Given the description of an element on the screen output the (x, y) to click on. 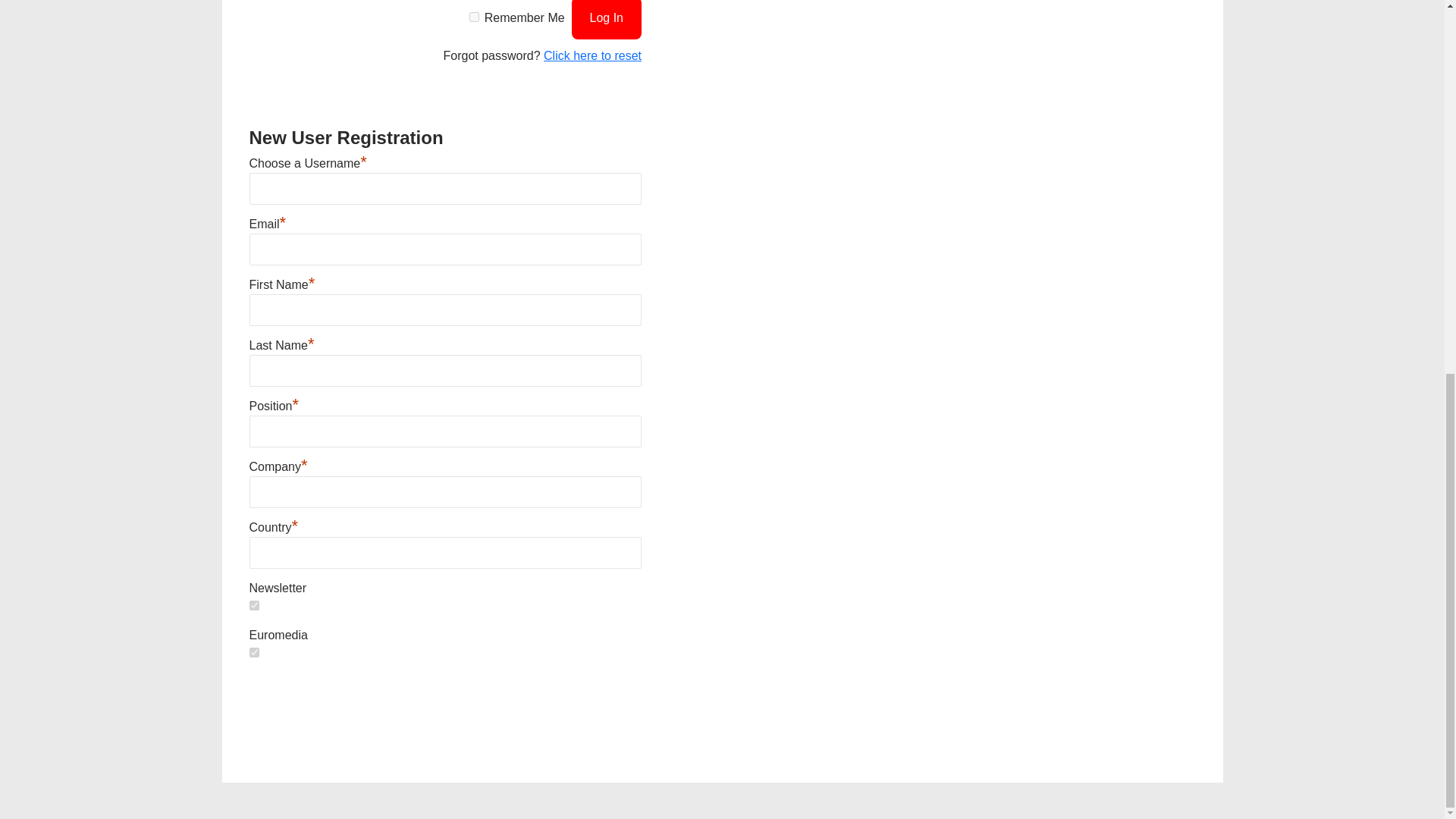
Click here to reset (592, 55)
Log In (607, 19)
Log In (607, 19)
forever (473, 17)
